Given the description of an element on the screen output the (x, y) to click on. 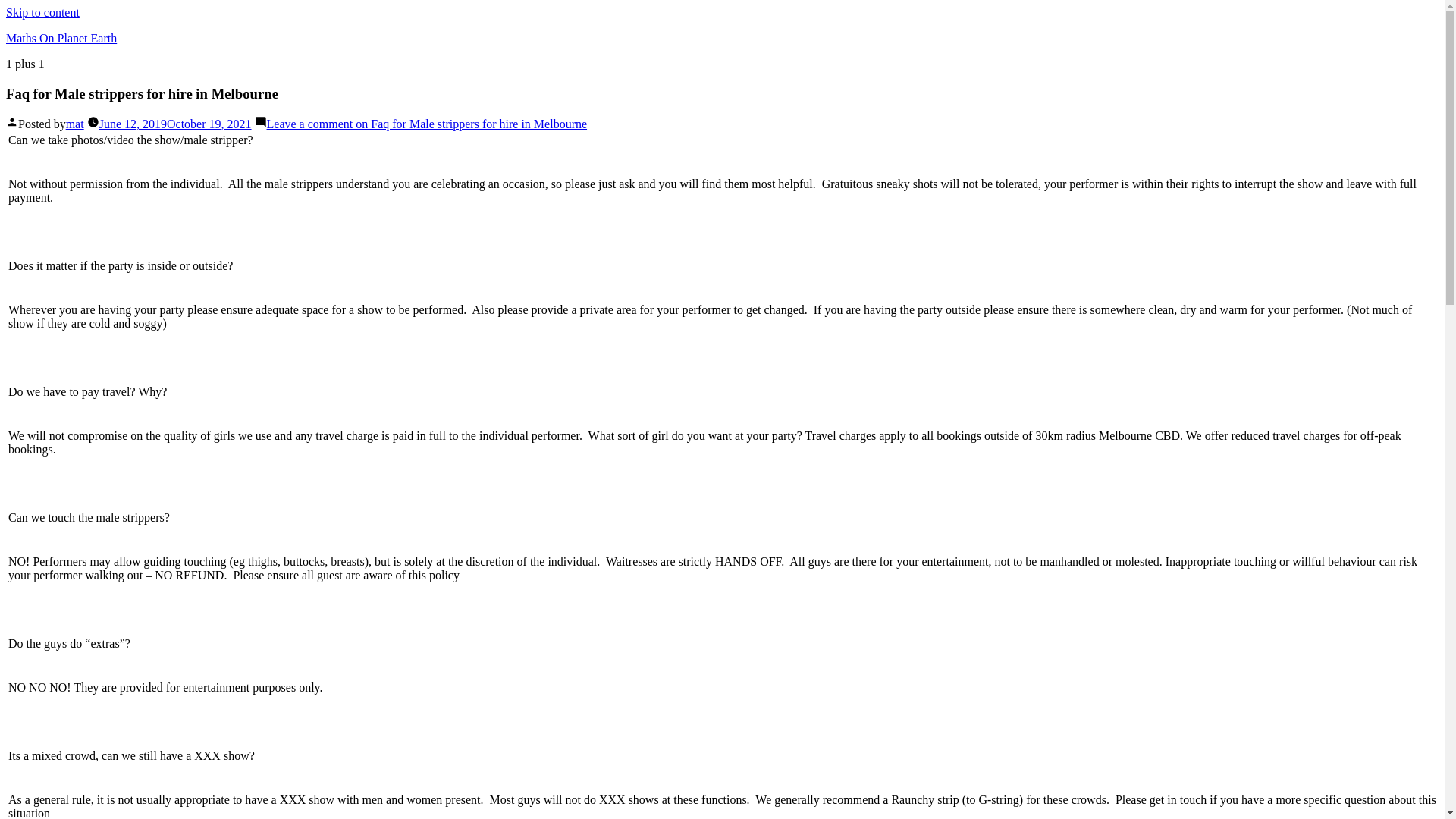
June 12, 2019October 19, 2021 Element type: text (175, 123)
mat Element type: text (74, 123)
Skip to content Element type: text (42, 12)
Maths On Planet Earth Element type: text (61, 37)
